Given the description of an element on the screen output the (x, y) to click on. 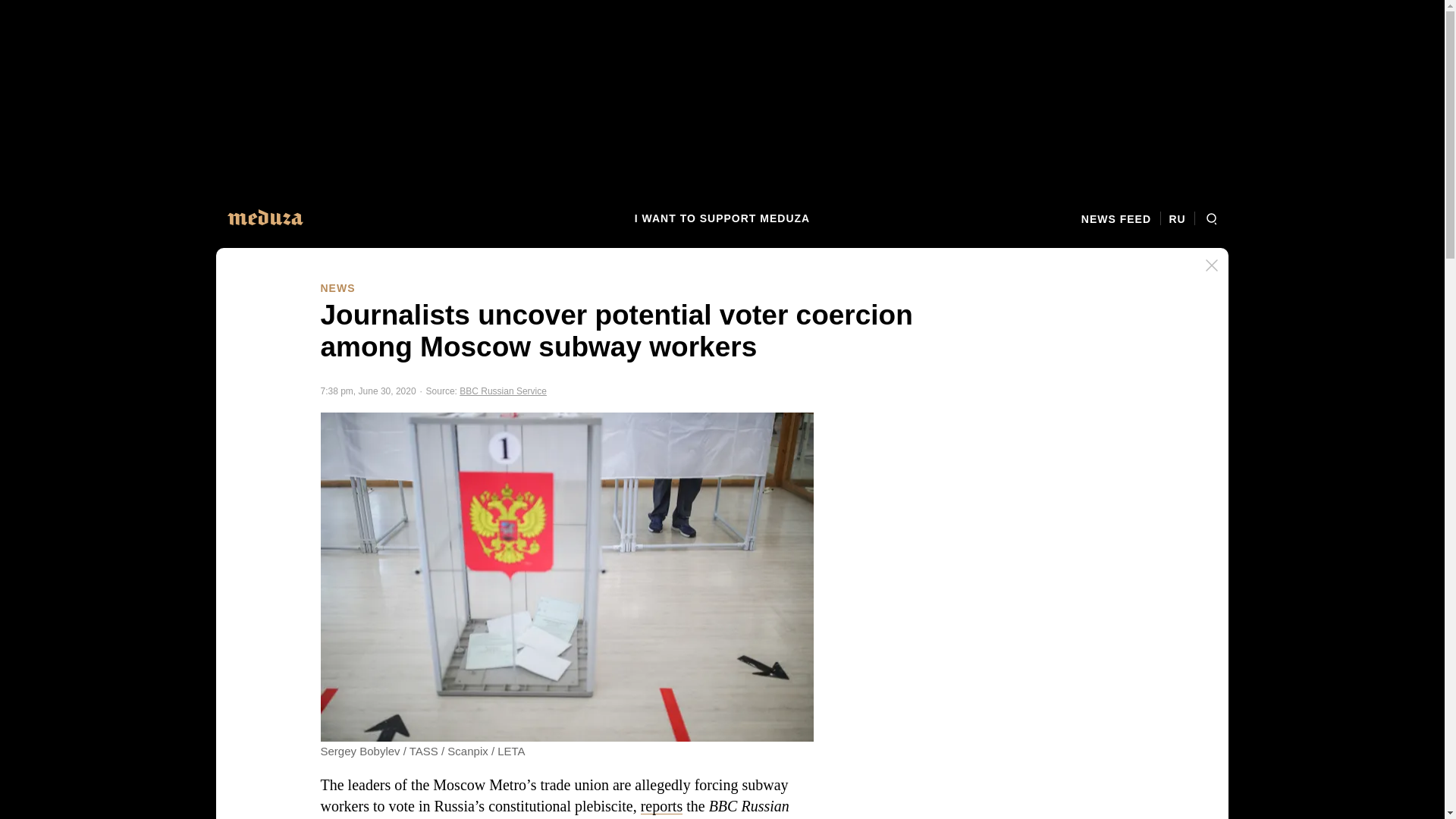
RU (1176, 218)
reports (661, 805)
NEWS FEED (1120, 218)
BBC Russian Service (503, 390)
I WANT TO SUPPORT MEDUZA (722, 218)
